Given the description of an element on the screen output the (x, y) to click on. 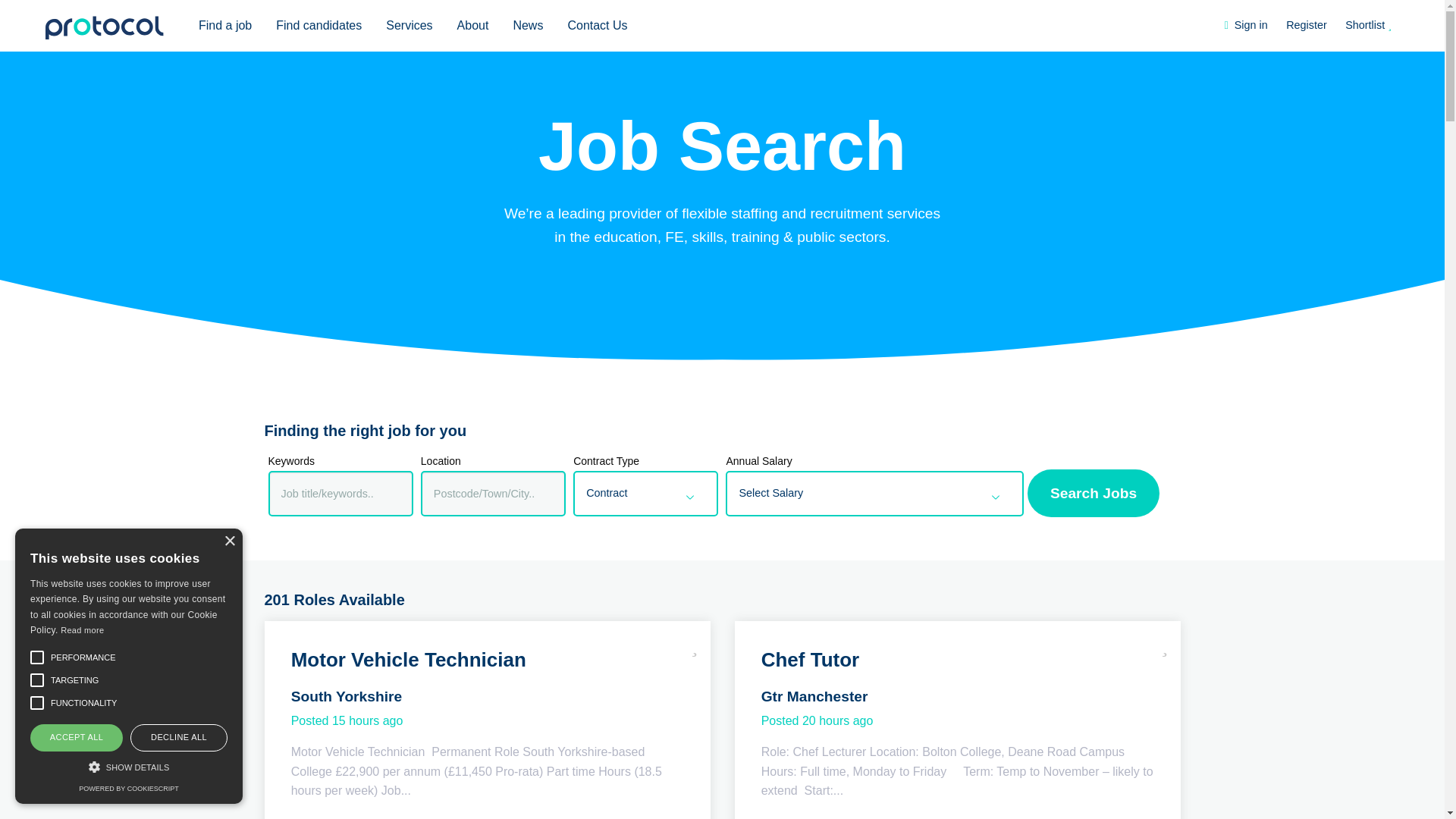
921 (590, 643)
821 (743, 609)
43 (590, 609)
984 (743, 523)
Add this job to shortlist (1164, 644)
Add this job to shortlist (694, 644)
829 (743, 574)
983 (743, 541)
942 (743, 557)
704 (590, 541)
486 (590, 523)
828 (743, 592)
1083 (590, 677)
Find candidates (318, 25)
705 (743, 626)
